Given the description of an element on the screen output the (x, y) to click on. 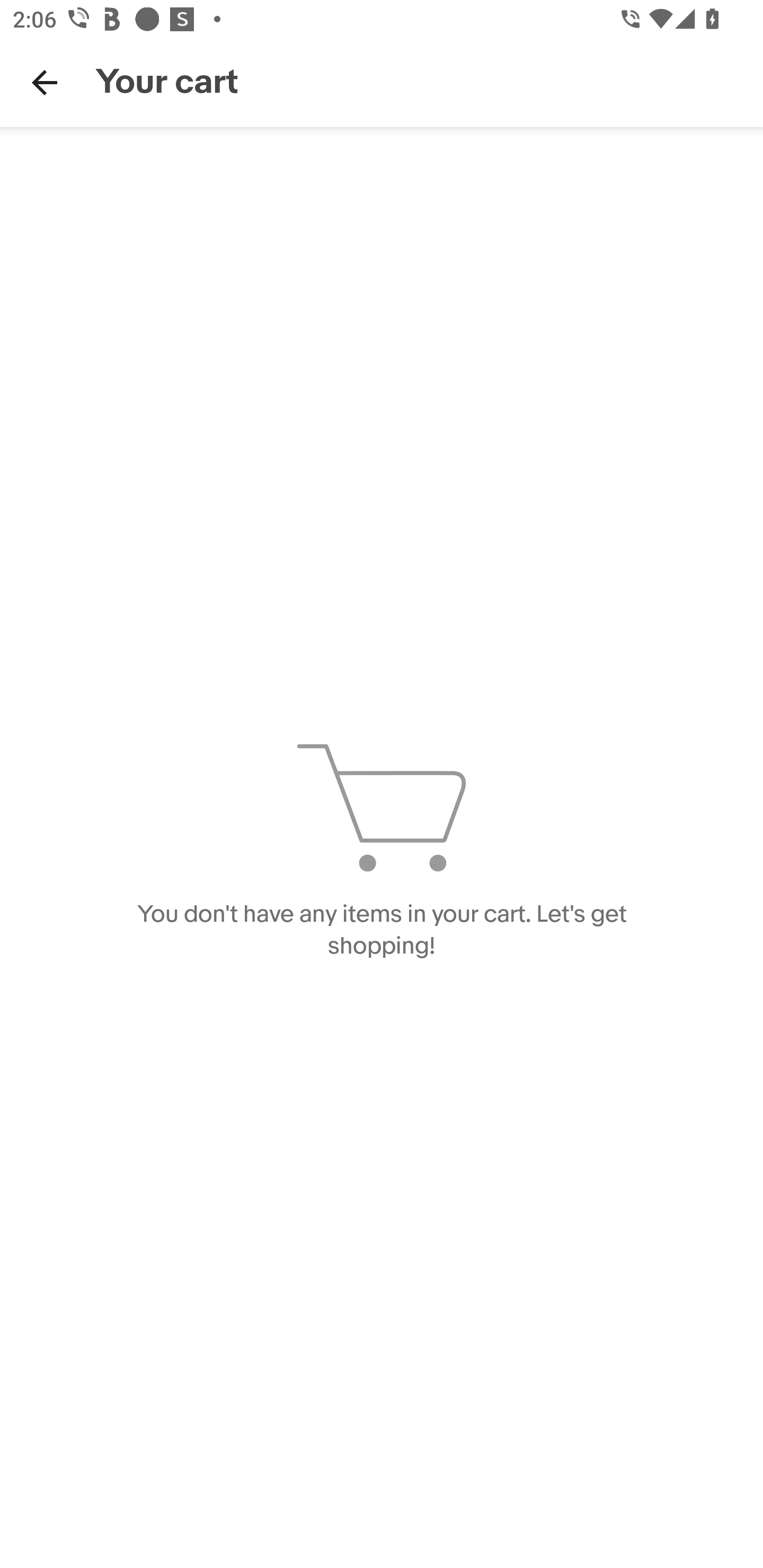
Navigate up (44, 82)
